Given the description of an element on the screen output the (x, y) to click on. 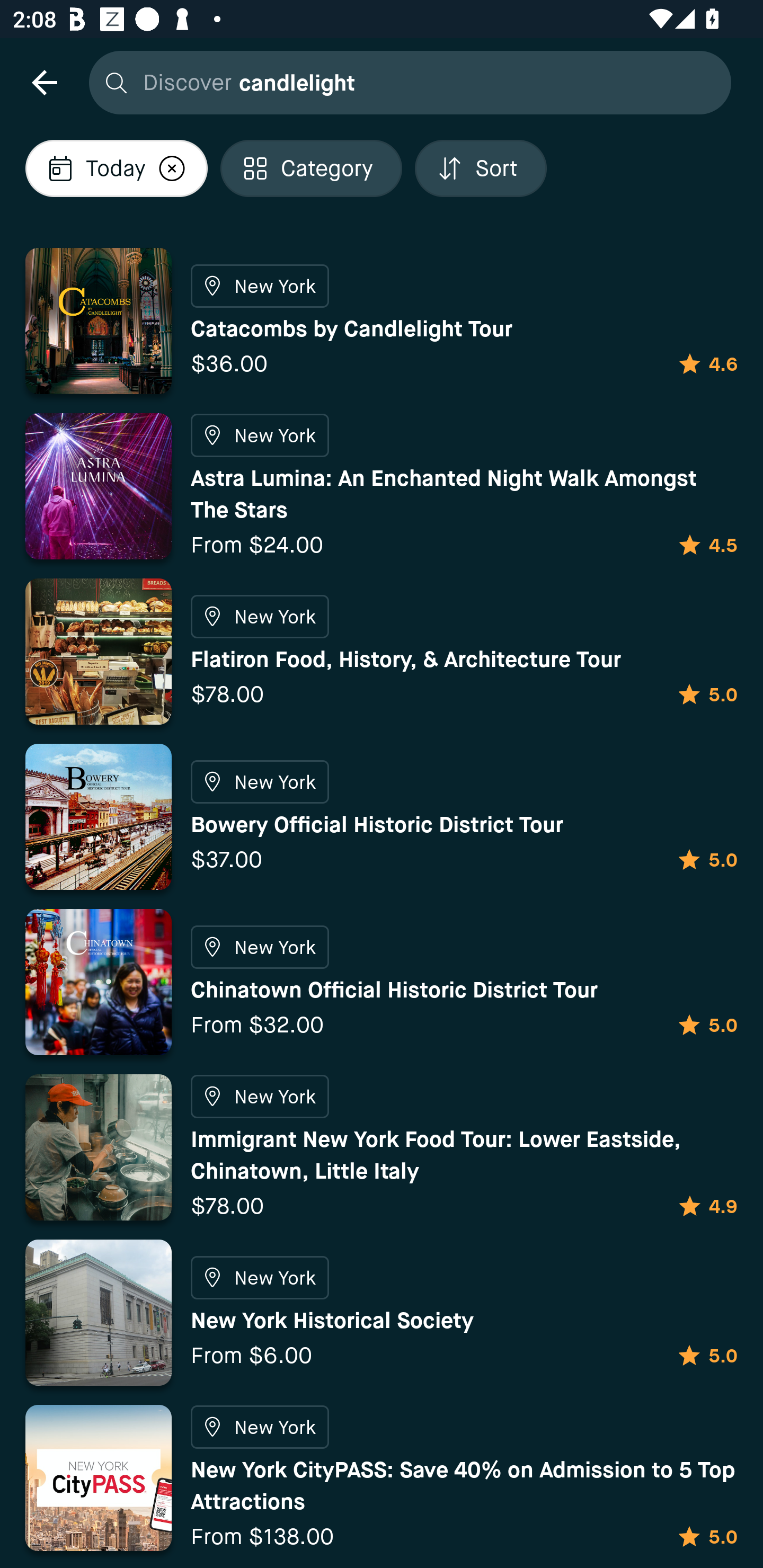
navigation icon (44, 81)
Discover candlelight (405, 81)
Localized description Today Localized description (116, 168)
Localized description (172, 168)
Localized description Category (311, 168)
Localized description Sort (481, 168)
